Given the description of an element on the screen output the (x, y) to click on. 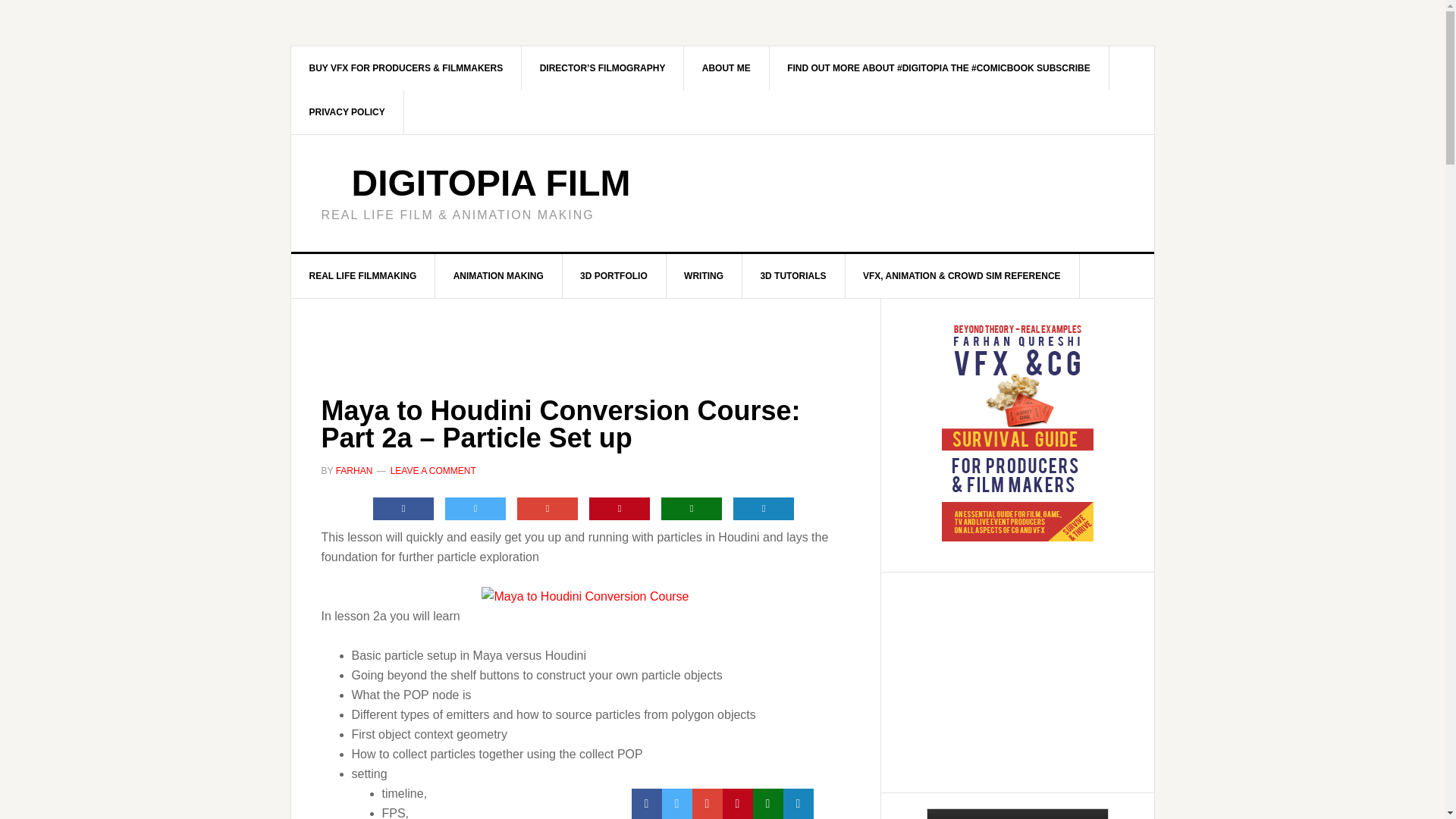
FARHAN (354, 470)
PRIVACY POLICY (347, 112)
3D TUTORIALS (792, 275)
ABOUT ME (727, 67)
Maya to Houdini Conversion Course (584, 596)
3D PORTFOLIO (614, 275)
REAL LIFE FILMMAKING (363, 275)
WRITING (703, 275)
LEAVE A COMMENT (433, 470)
ANIMATION MAKING (498, 275)
